Given the description of an element on the screen output the (x, y) to click on. 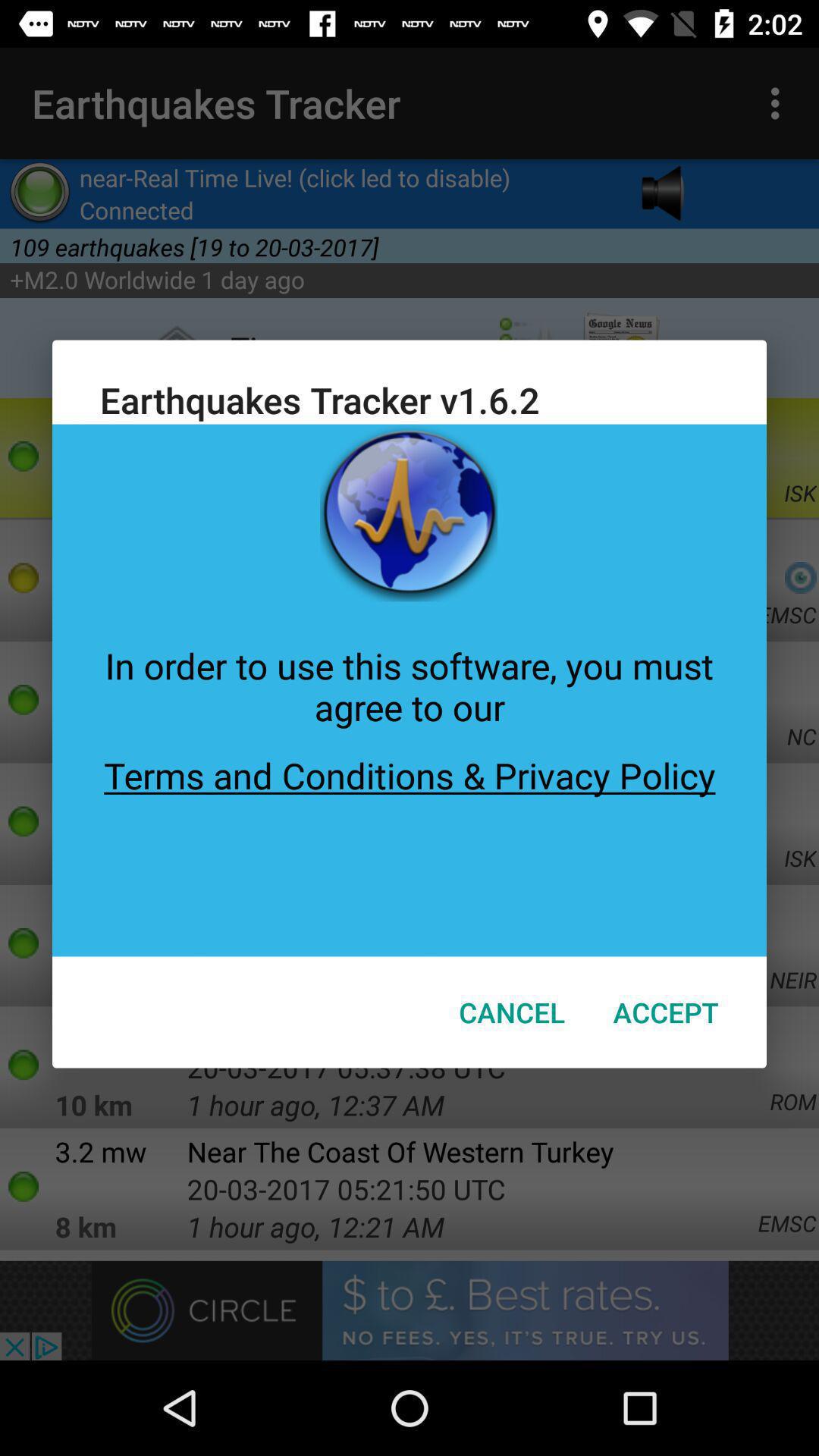
turn off the item next to the cancel (665, 1012)
